Given the description of an element on the screen output the (x, y) to click on. 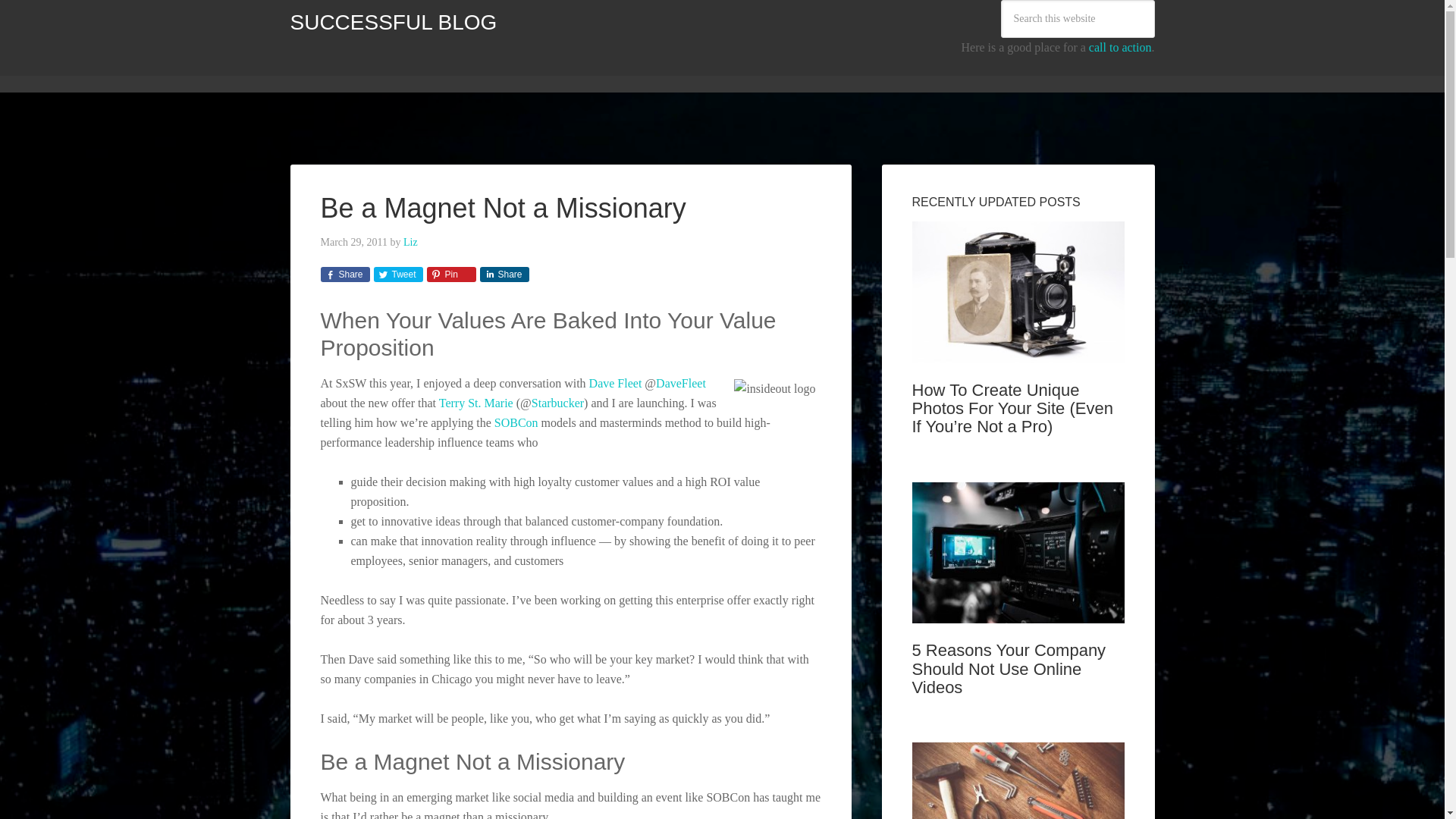
Stay Tuned (707, 68)
Tweet (397, 273)
SOBCon (516, 422)
Share (344, 273)
Liz (410, 242)
DaveFleet (681, 382)
Pin (451, 273)
Terry St. Marie (476, 402)
Dave Fleet (615, 382)
Share (503, 273)
Home (315, 68)
Author Guidelines (535, 68)
Community (384, 68)
SUCCESSFUL BLOG (392, 22)
Starbucker (557, 402)
